Given the description of an element on the screen output the (x, y) to click on. 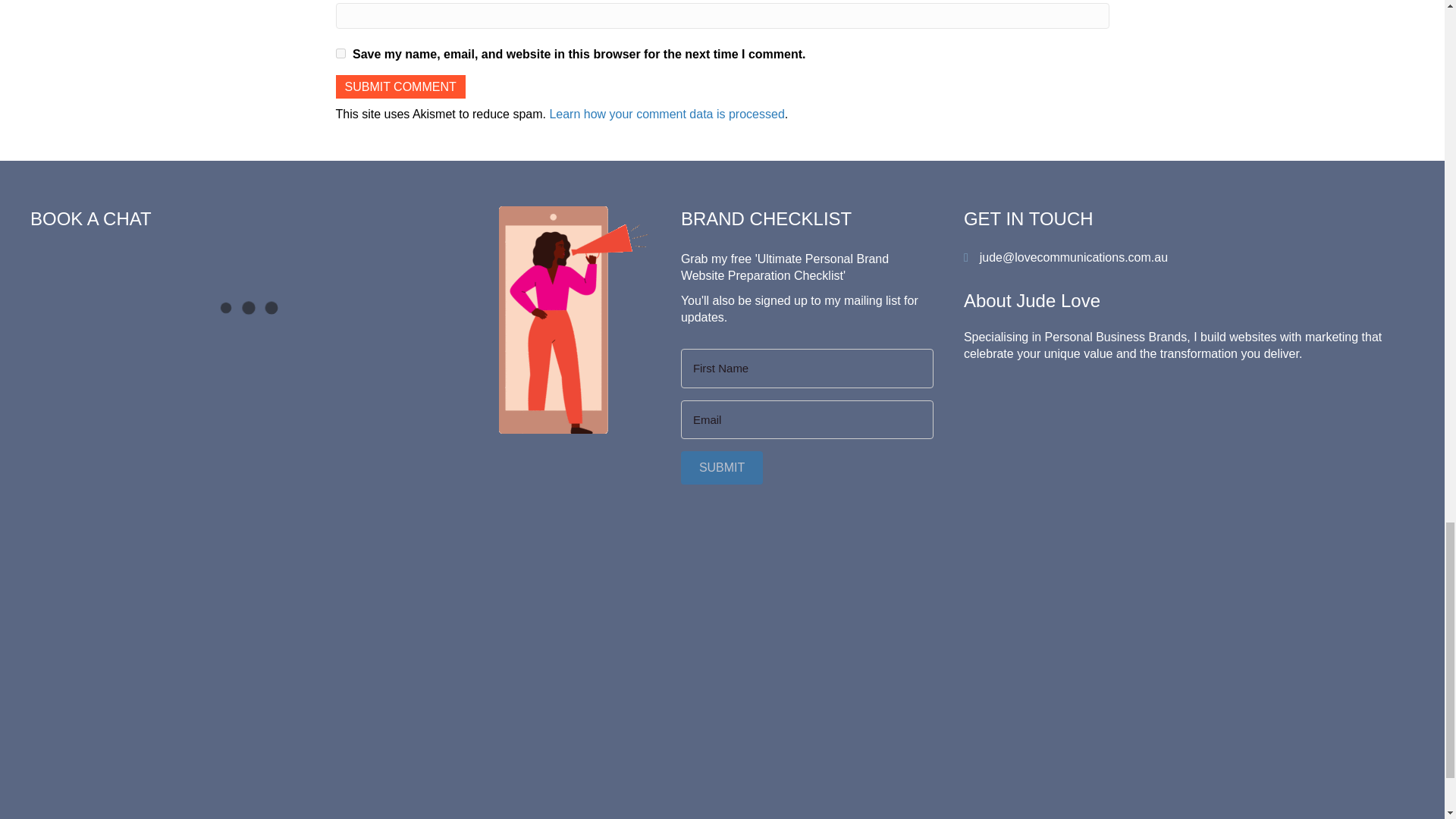
Submit (721, 467)
Submit Comment (399, 86)
Learn how your comment data is processed (666, 113)
Submit (721, 467)
Submit Comment (399, 86)
yes (339, 53)
